Given the description of an element on the screen output the (x, y) to click on. 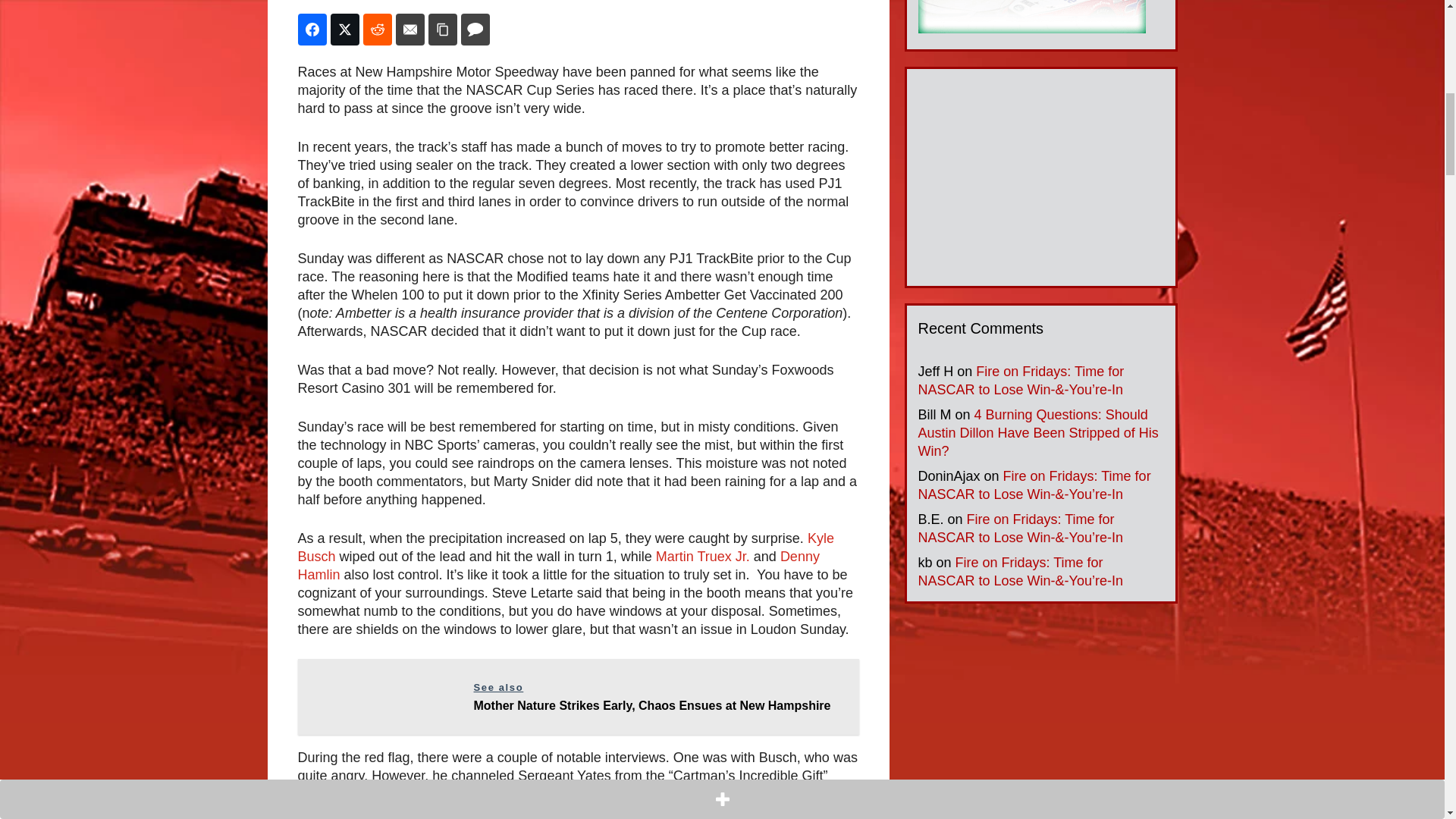
Denny Hamlin (557, 565)
Share on Email (410, 29)
Share on Comments (475, 29)
Kyle Busch (564, 547)
Share on Copy Link (442, 29)
Share on Twitter (344, 29)
Martin Truex Jr. (702, 556)
Share on Facebook (311, 29)
Share on Reddit (376, 29)
